Given the description of an element on the screen output the (x, y) to click on. 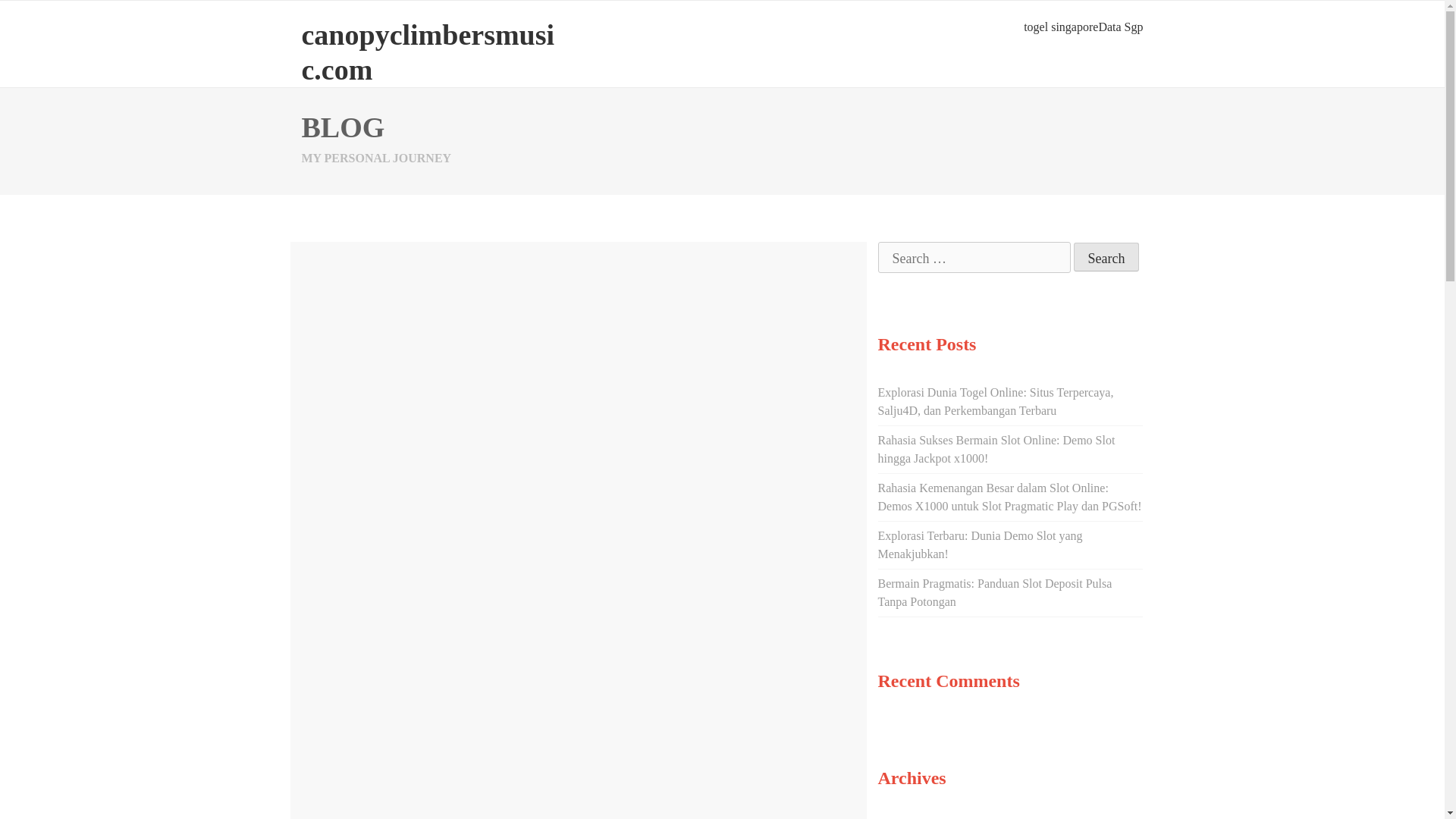
togel singapore (1060, 27)
Search (1107, 256)
Search (1107, 256)
canopyclimbersmusic.com (427, 51)
Search (1107, 256)
Explorasi Terbaru: Dunia Demo Slot yang Menakjubkan! (980, 544)
Bermain Pragmatis: Panduan Slot Deposit Pulsa Tanpa Potongan (994, 592)
Data Sgp (1119, 27)
